Given the description of an element on the screen output the (x, y) to click on. 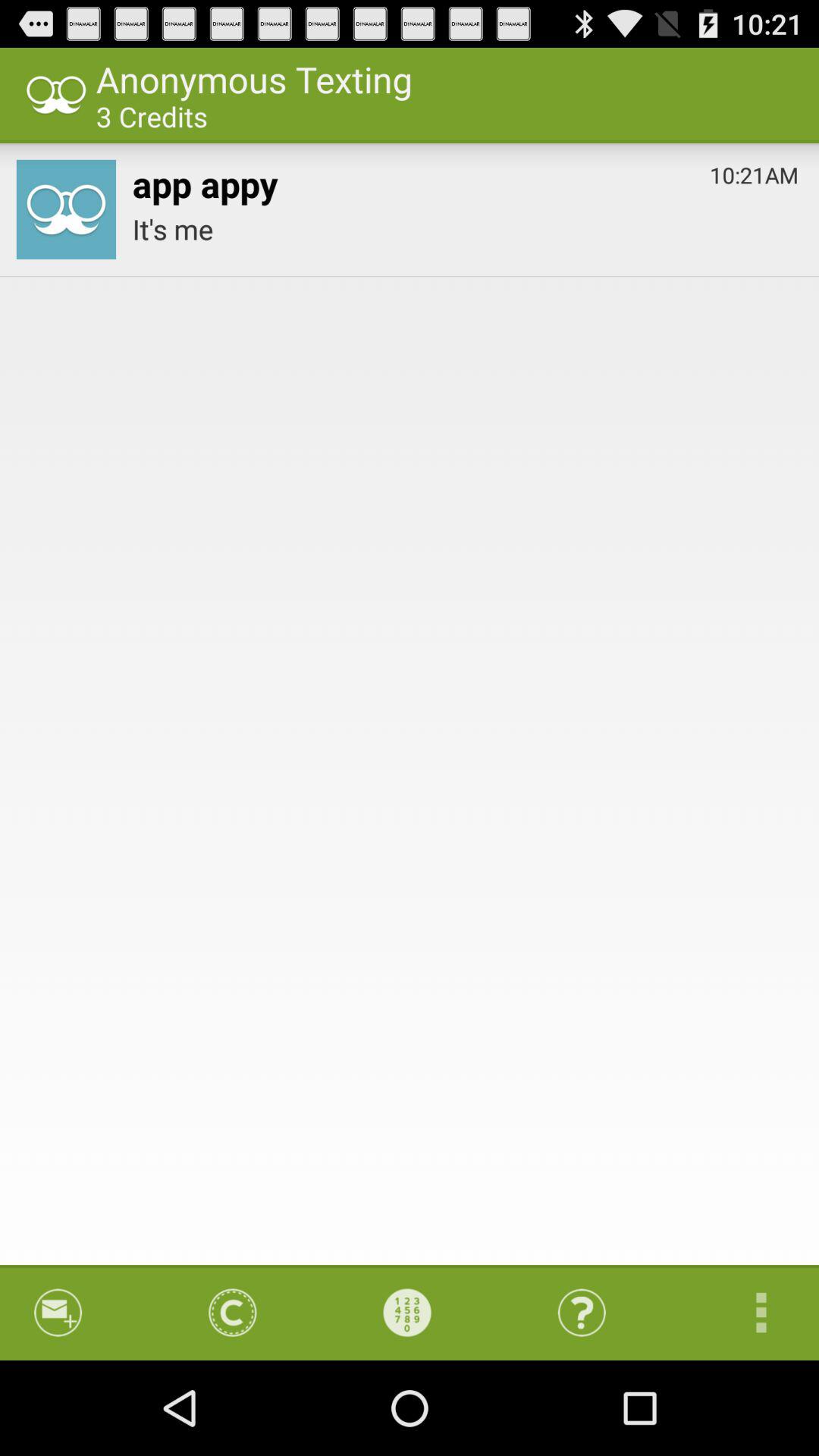
click app to the left of the app appy (66, 209)
